Given the description of an element on the screen output the (x, y) to click on. 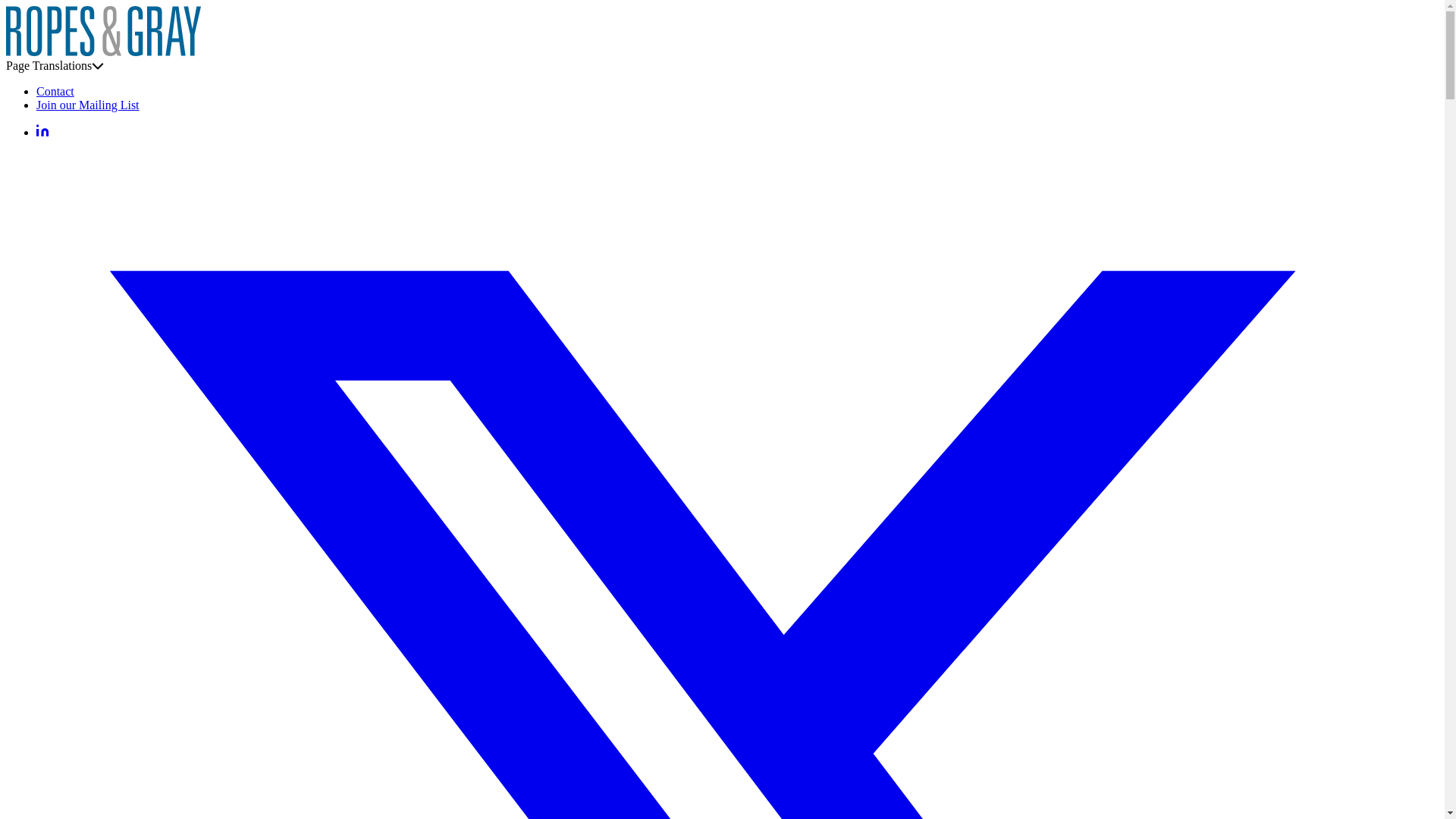
Join our Mailing List (87, 104)
Contact (55, 91)
linkedin (42, 132)
Page Translations (54, 65)
